Given the description of an element on the screen output the (x, y) to click on. 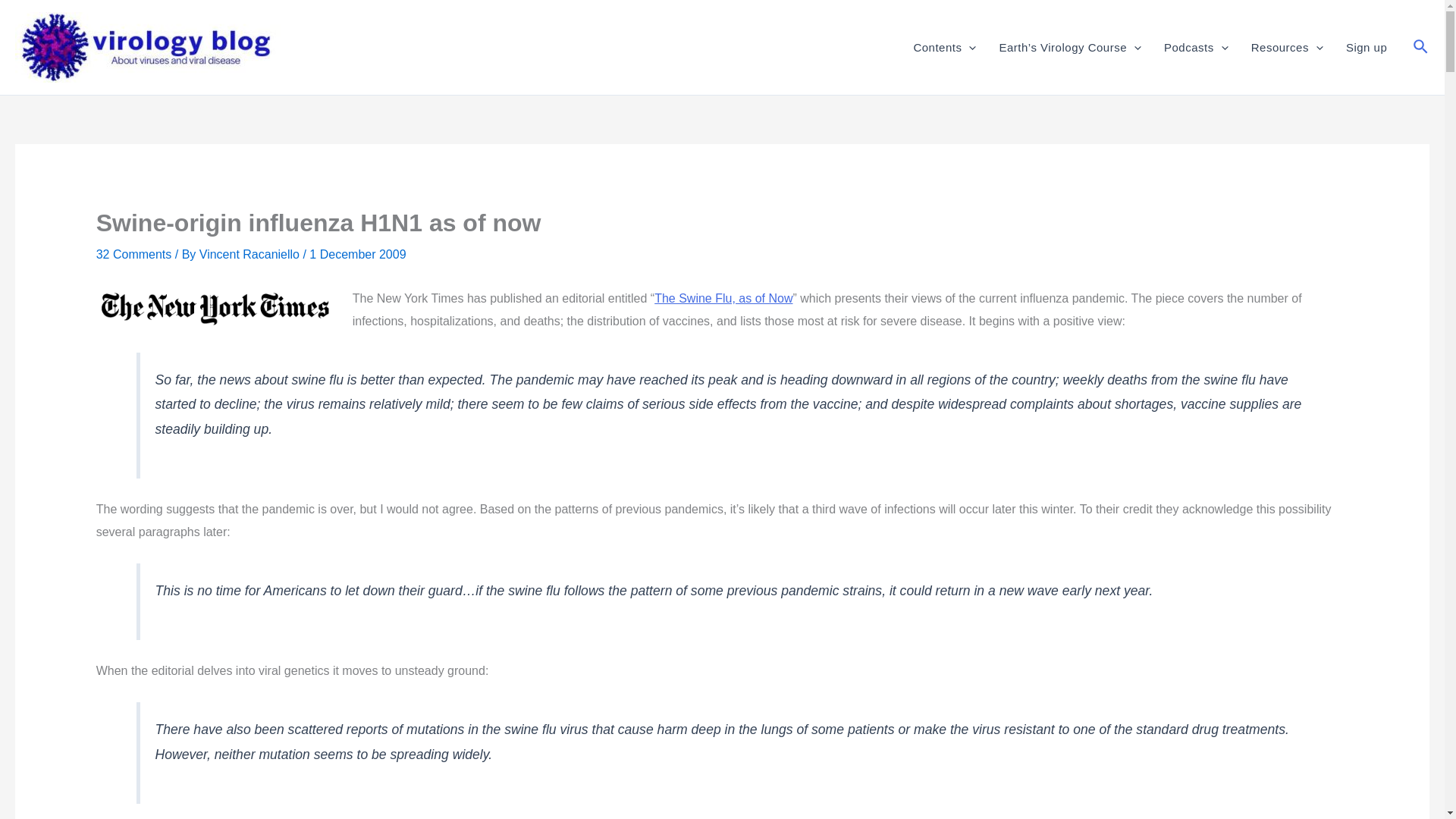
Sign up (1366, 46)
Contents (944, 46)
View all posts by Vincent Racaniello (250, 254)
Resources (1287, 46)
nytimes (215, 307)
Podcasts (1196, 46)
